Given the description of an element on the screen output the (x, y) to click on. 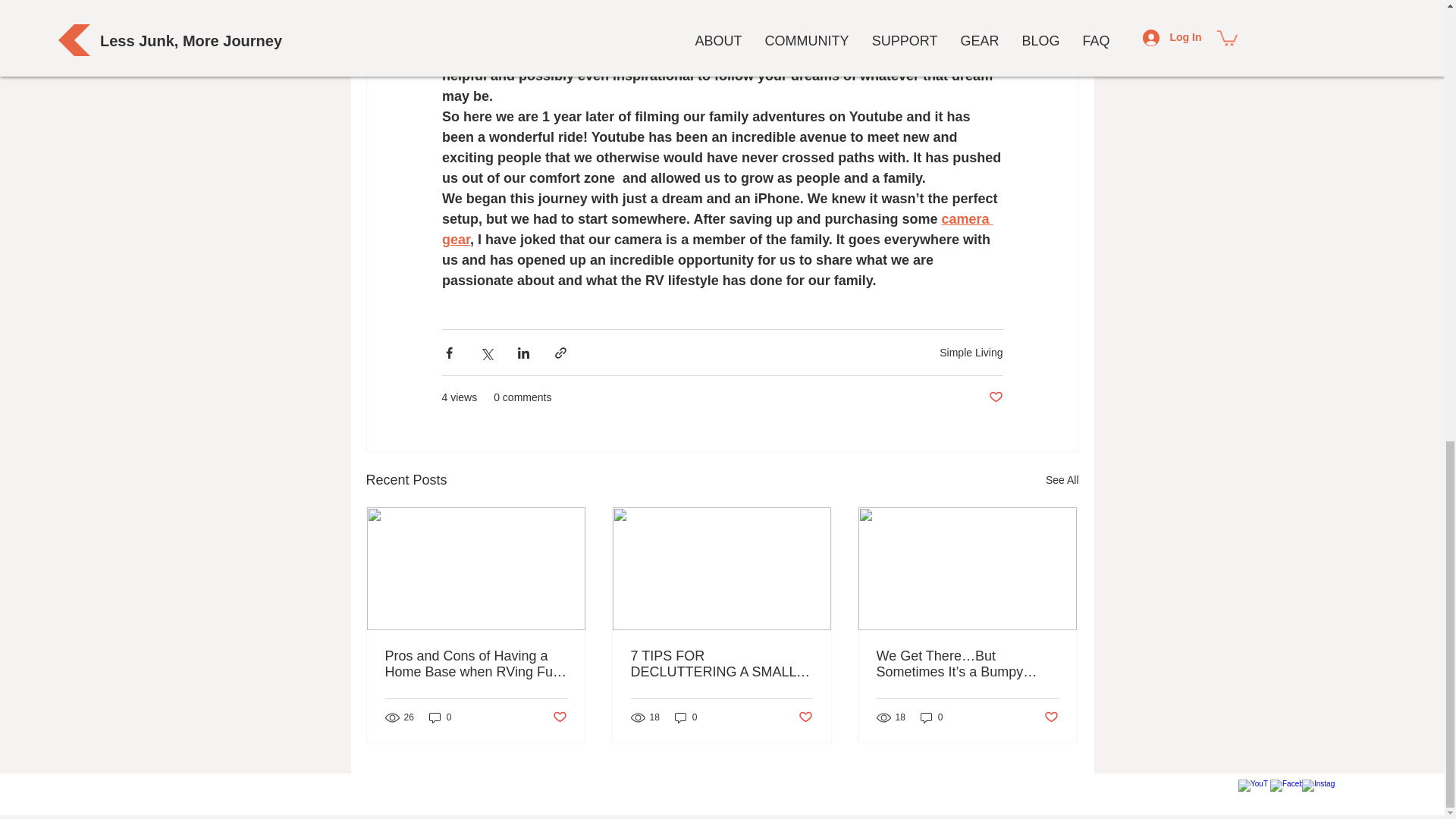
camera gear (716, 229)
Simple Living (971, 352)
Post not marked as liked (995, 397)
